Given the description of an element on the screen output the (x, y) to click on. 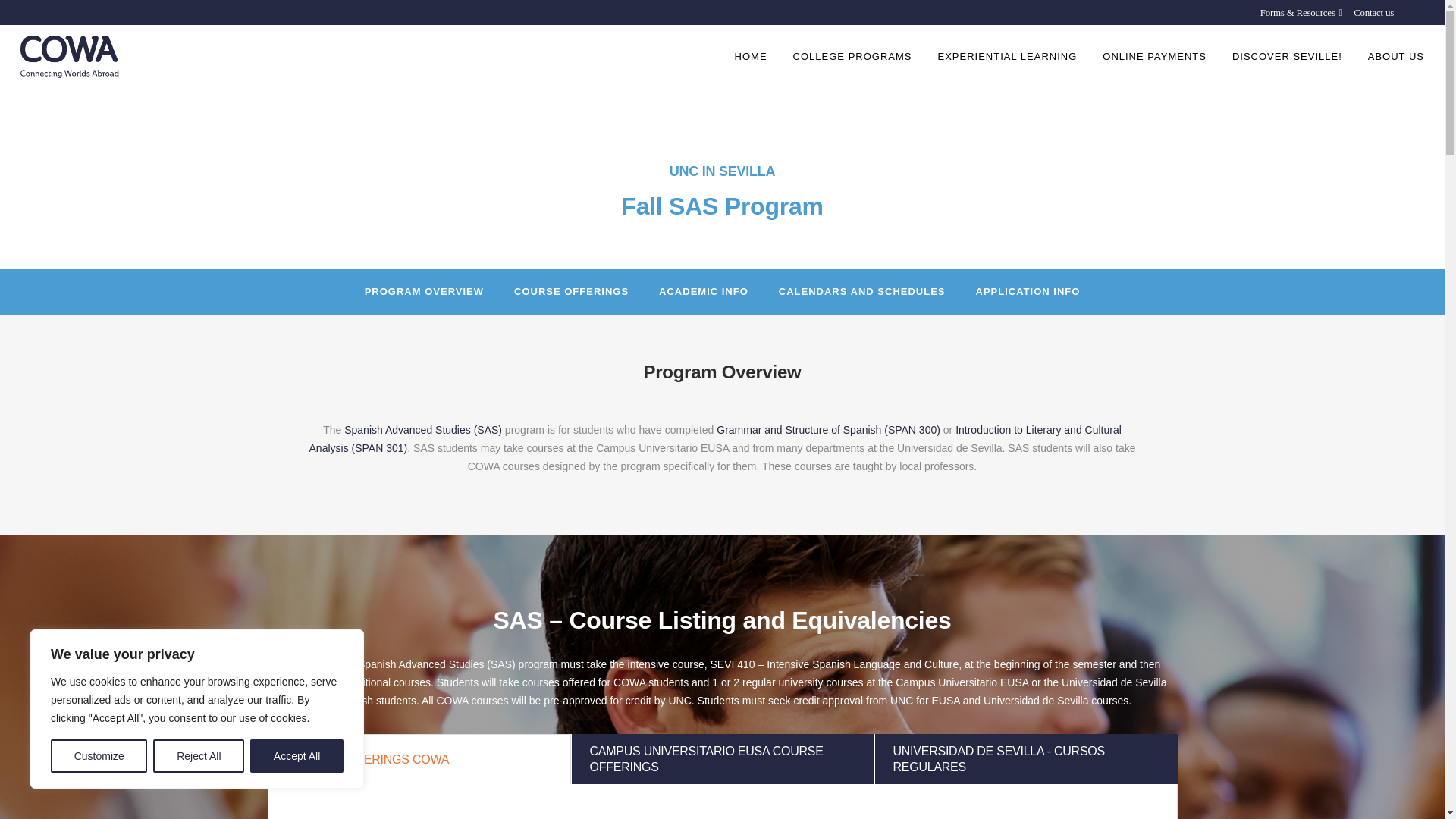
COLLEGE PROGRAMS (852, 56)
Reject All (198, 756)
EXPERIENTIAL LEARNING (1006, 56)
Customize (98, 756)
Accept All (296, 756)
ABOUT US (1396, 56)
Contact us (1367, 12)
DISCOVER SEVILLE! (1287, 56)
ONLINE PAYMENTS (1154, 56)
HOME (751, 56)
